Given the description of an element on the screen output the (x, y) to click on. 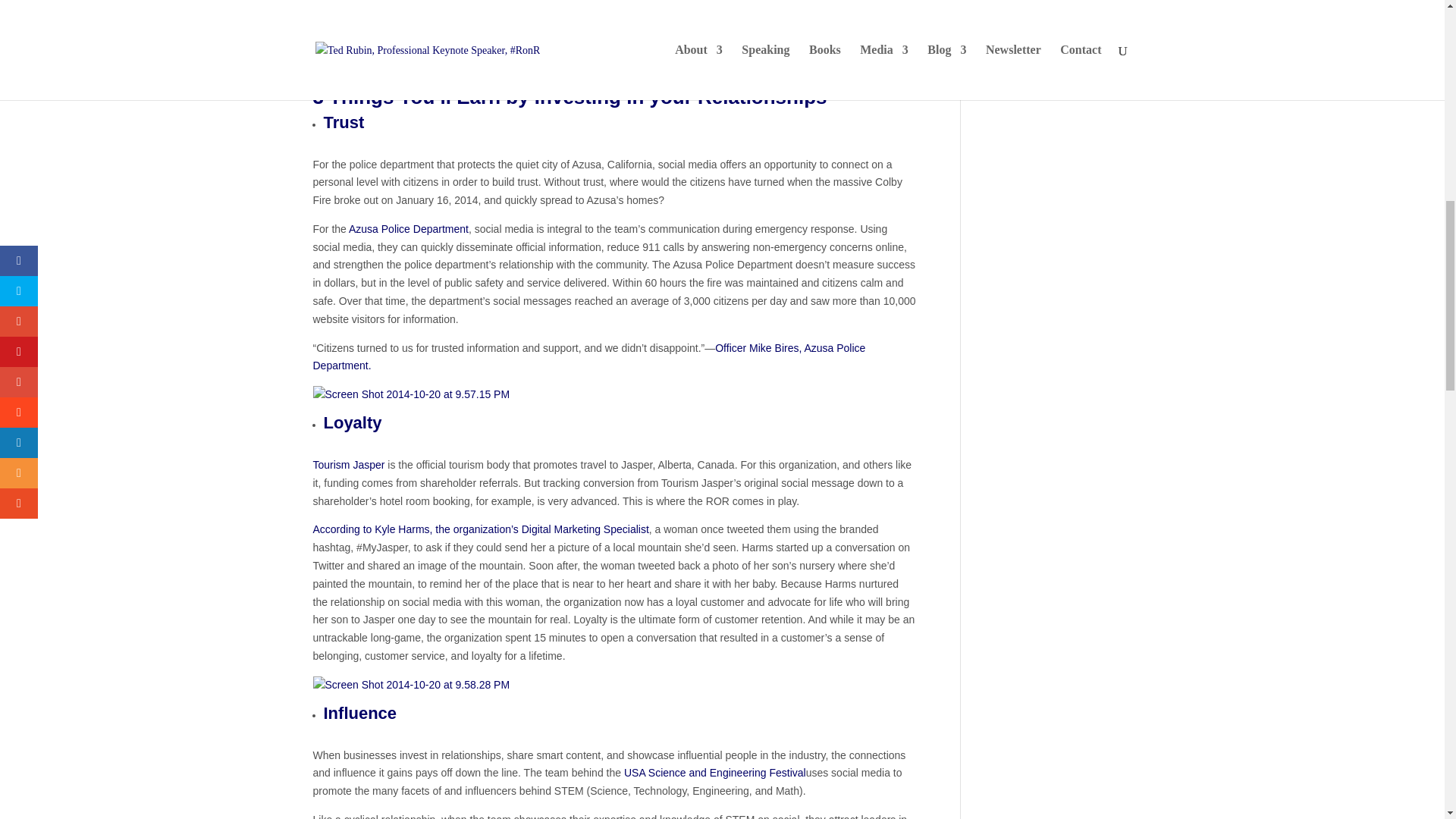
USA Science and Engineering Festival (715, 772)
Tourism Jasper (348, 464)
Officer Mike Bires, Azusa Police Department. (588, 357)
Azusa Police Department (408, 228)
